Given the description of an element on the screen output the (x, y) to click on. 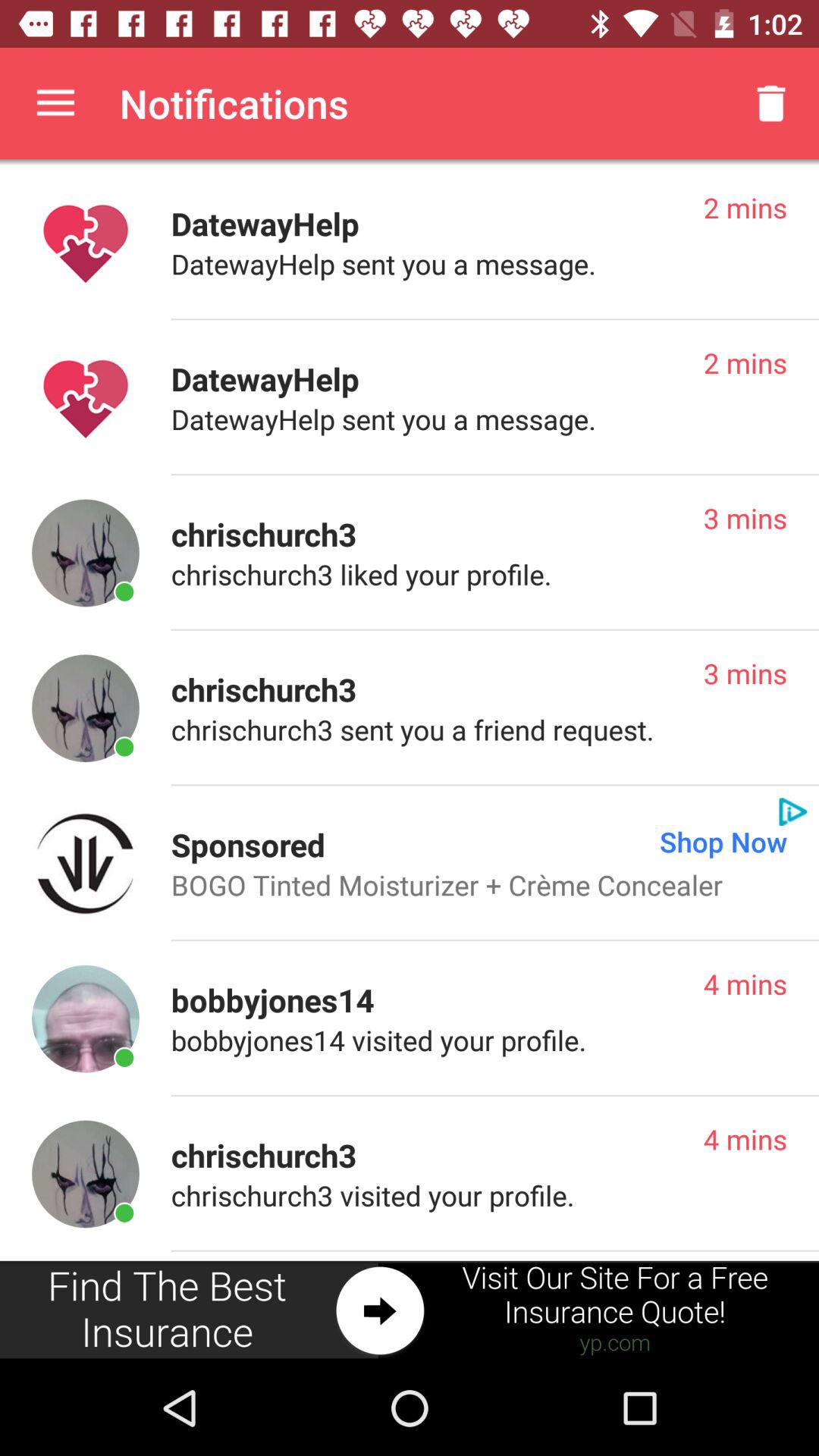
go to this advertised product (85, 863)
